Given the description of an element on the screen output the (x, y) to click on. 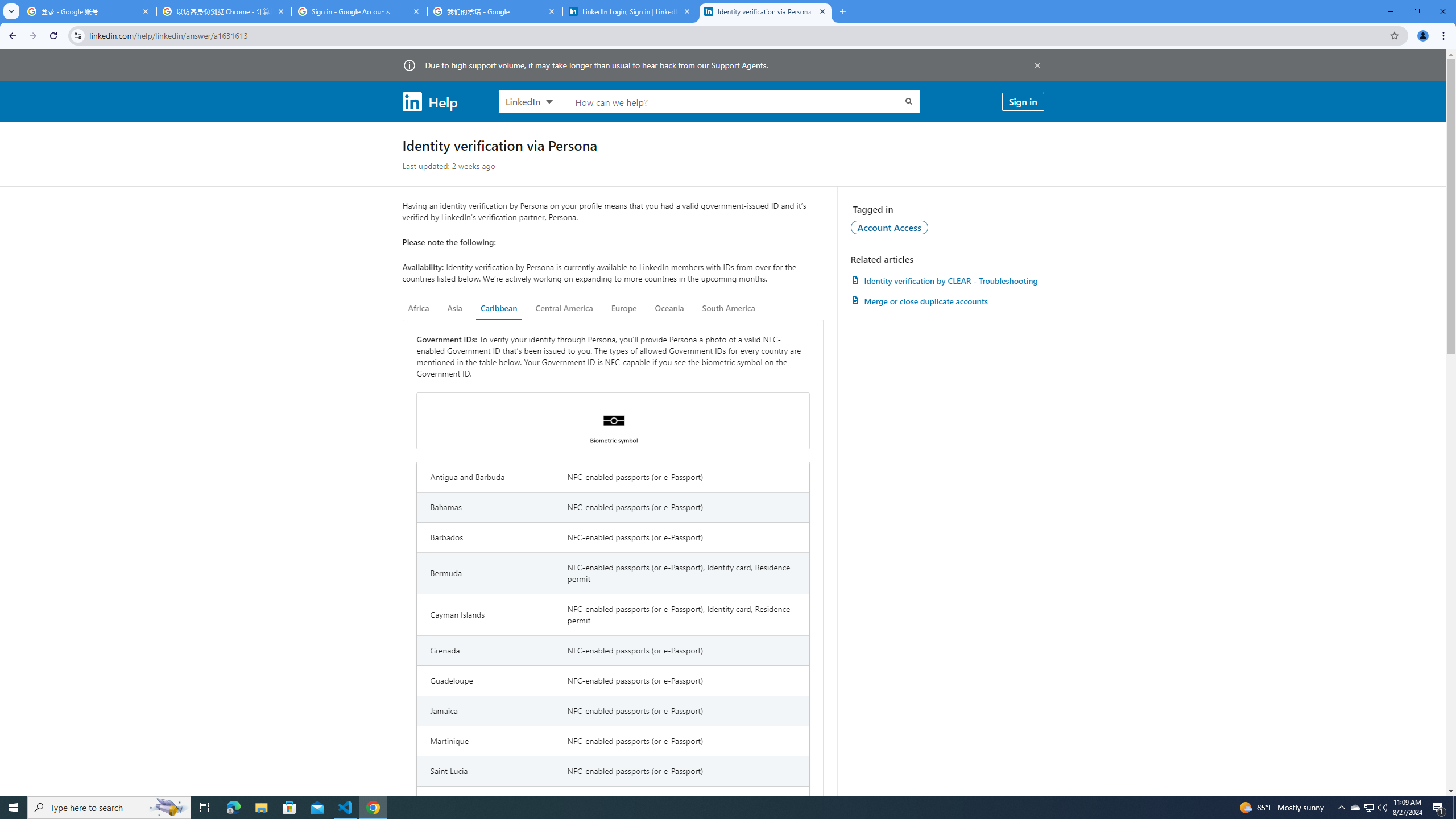
Identity verification via Persona | LinkedIn Help (765, 11)
AutomationID: article-link-a1457505 (946, 280)
South America (728, 308)
Identity verification by CLEAR - Troubleshooting (946, 280)
Central America (563, 308)
Biometric symbol (612, 420)
Oceania (668, 308)
Caribbean (499, 308)
Europe (623, 308)
LinkedIn Login, Sign in | LinkedIn (630, 11)
